Given the description of an element on the screen output the (x, y) to click on. 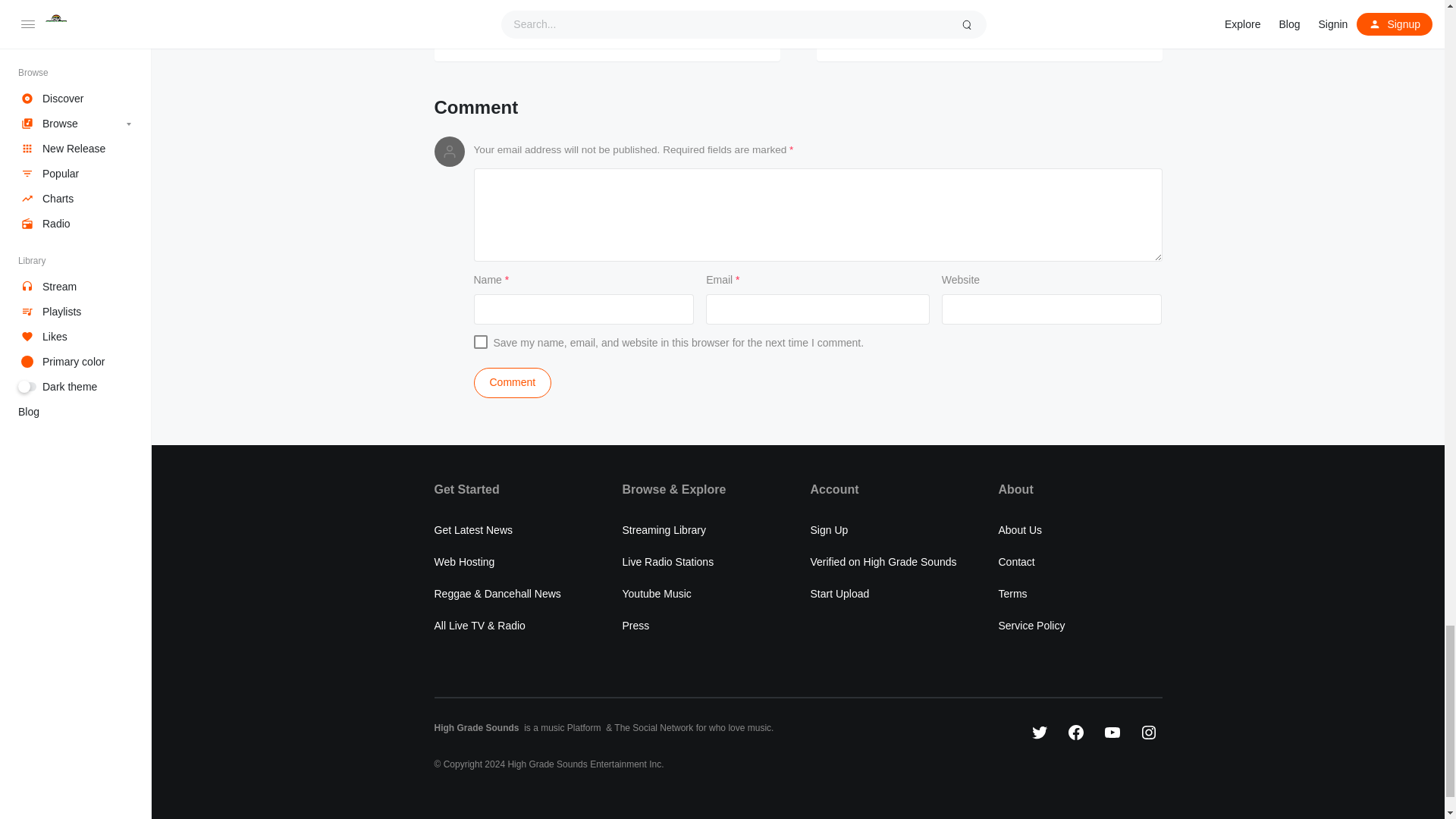
Comment (512, 382)
July 31, 2024 (501, 2)
yes (479, 341)
